Given the description of an element on the screen output the (x, y) to click on. 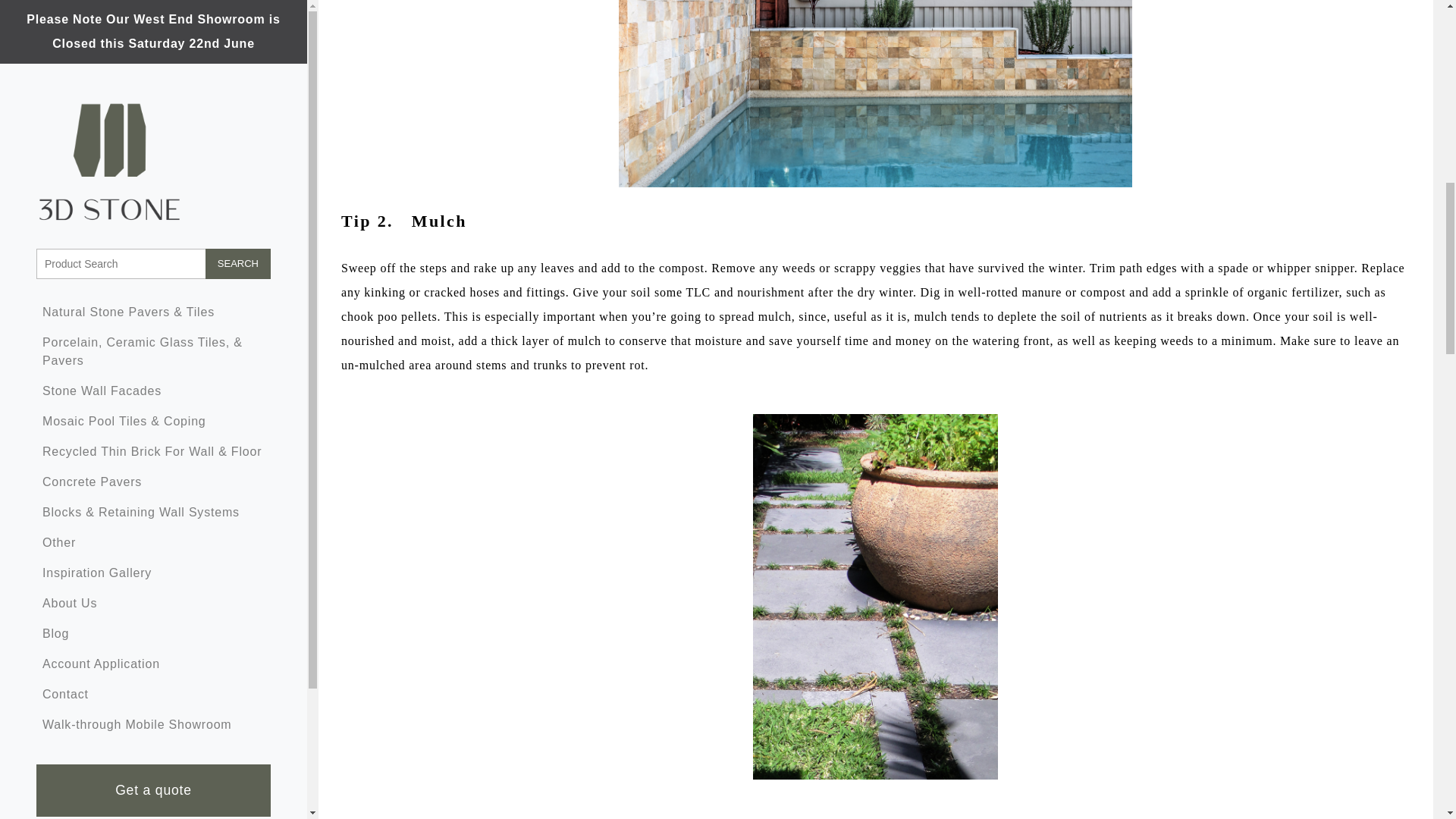
Facebook (79, 90)
Pinterest (178, 90)
Instagram (128, 90)
Houzz (227, 90)
CALL: 1300 76 11 76 (153, 30)
